Given the description of an element on the screen output the (x, y) to click on. 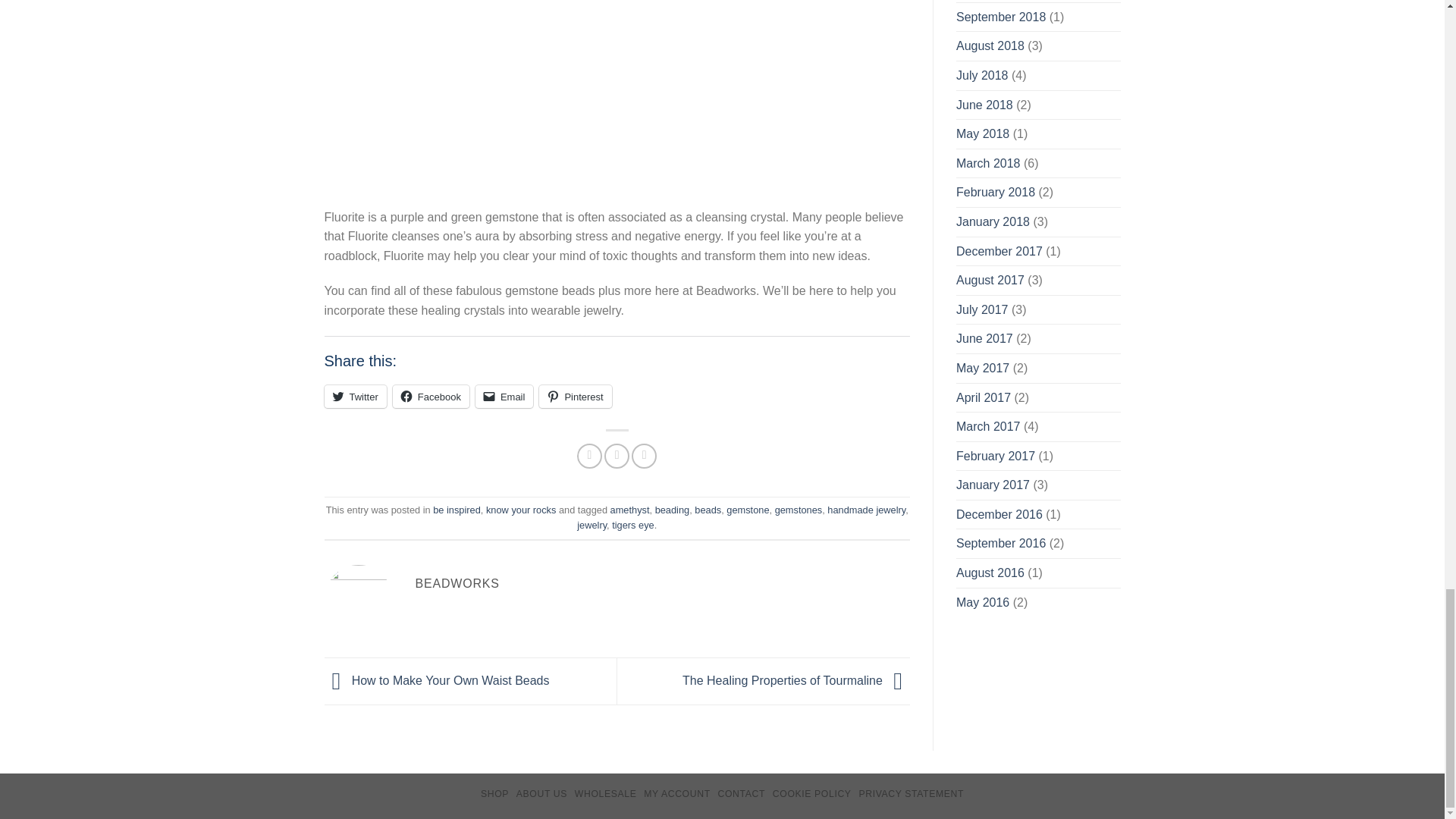
Click to share on Twitter (355, 395)
Email (505, 395)
Click to share on Facebook (430, 395)
Facebook (430, 395)
Click to email a link to a friend (505, 395)
Twitter (355, 395)
Pinterest (574, 395)
